Given the description of an element on the screen output the (x, y) to click on. 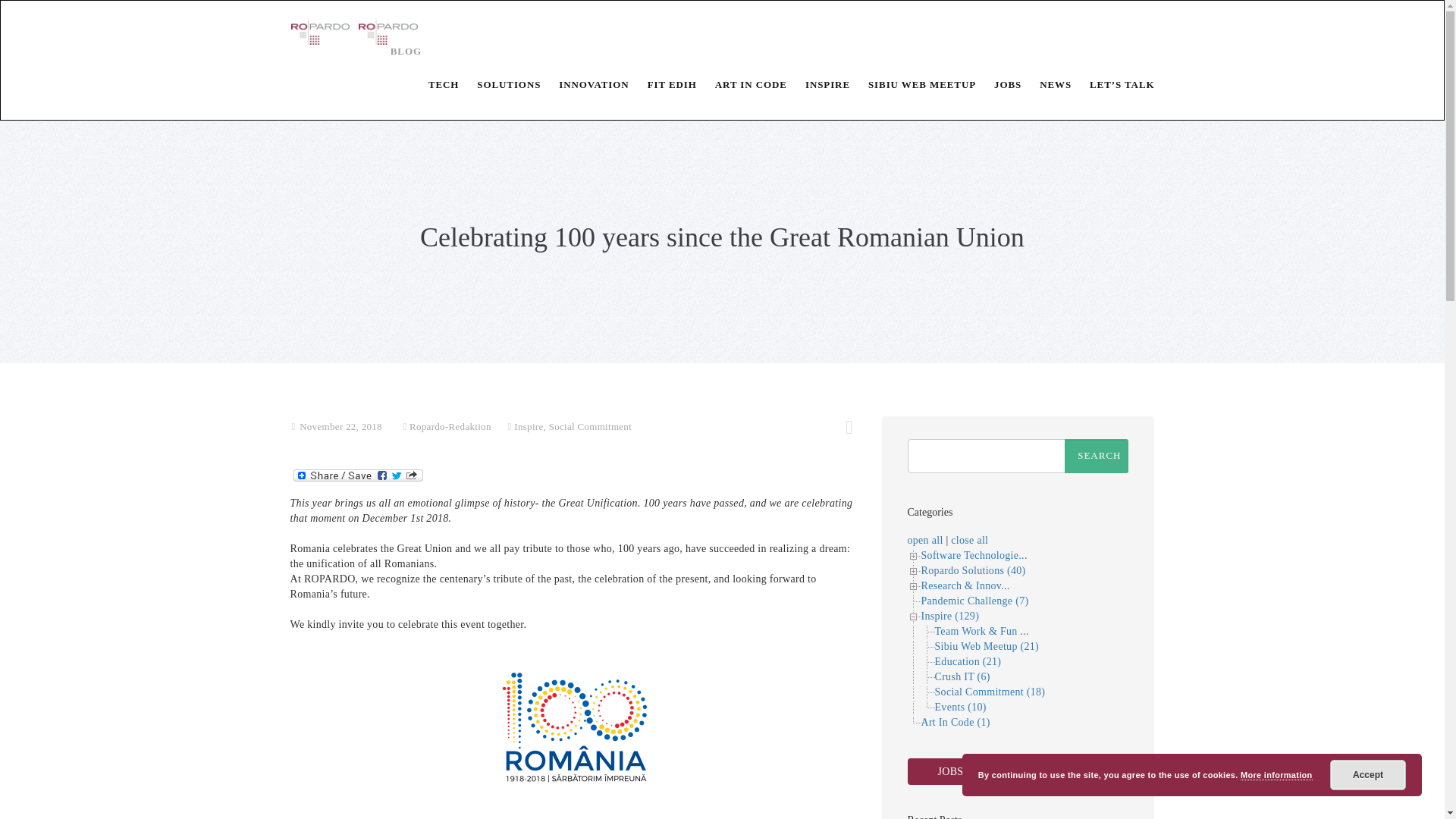
Search (1096, 456)
We inspire one another (818, 84)
Search (1096, 456)
We change the game (499, 84)
Ropardo-Redaktion (450, 426)
INSPIRE (818, 84)
FIT EDIH (662, 84)
Inspire (528, 426)
SIBIU WEB MEETUP (912, 84)
SOLUTIONS (499, 84)
INNOVATION (584, 84)
ART IN CODE (742, 84)
Social Commitment (589, 426)
We solve real world challenges (584, 84)
November 22, 2018 (339, 426)
